Given the description of an element on the screen output the (x, y) to click on. 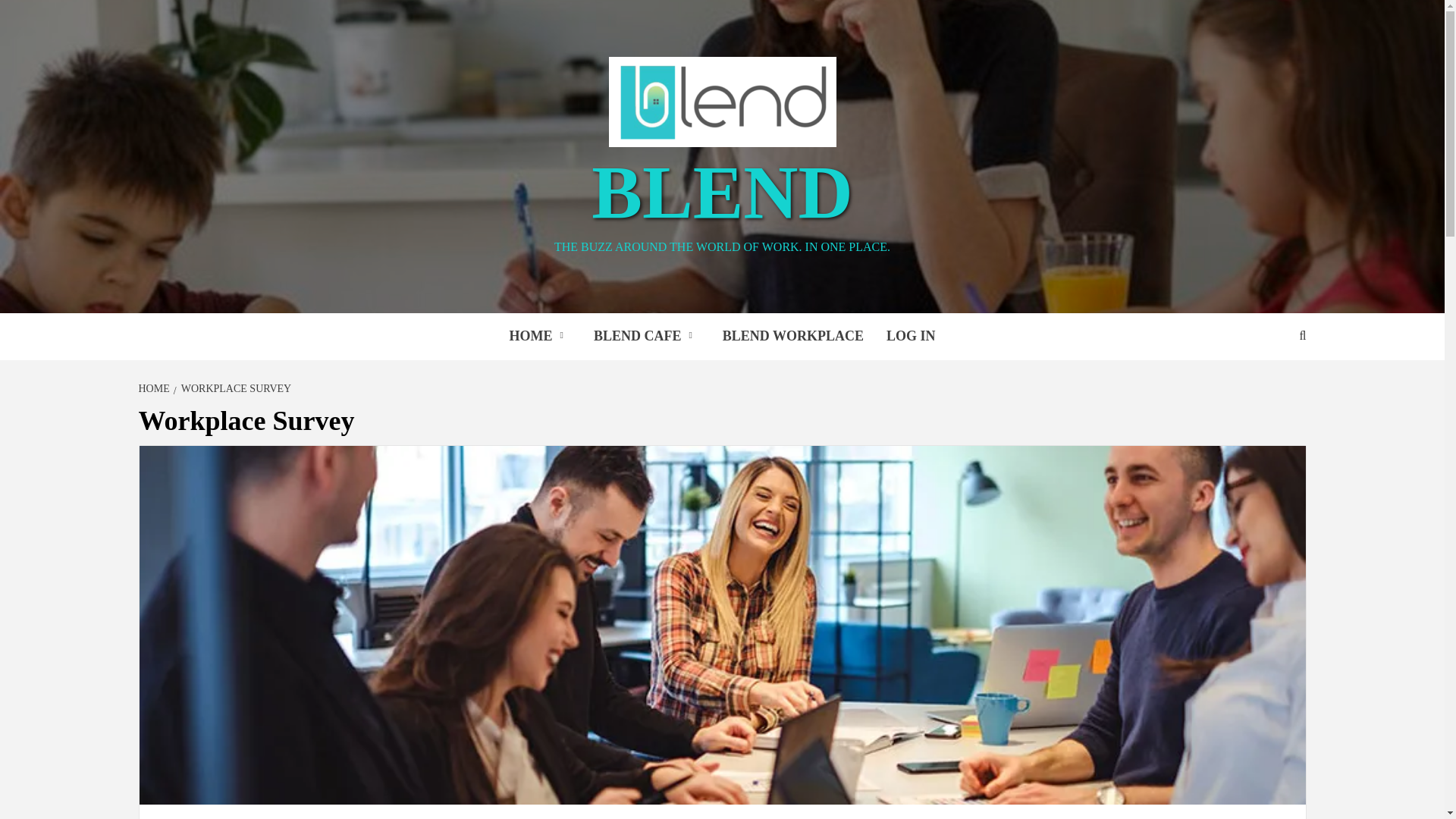
WORKPLACE SURVEY (234, 388)
BLEND CAFE (646, 336)
BLEND (722, 191)
LOG IN (911, 336)
BLEND WORKPLACE (793, 336)
HOME (155, 388)
HOME (538, 336)
